Given the description of an element on the screen output the (x, y) to click on. 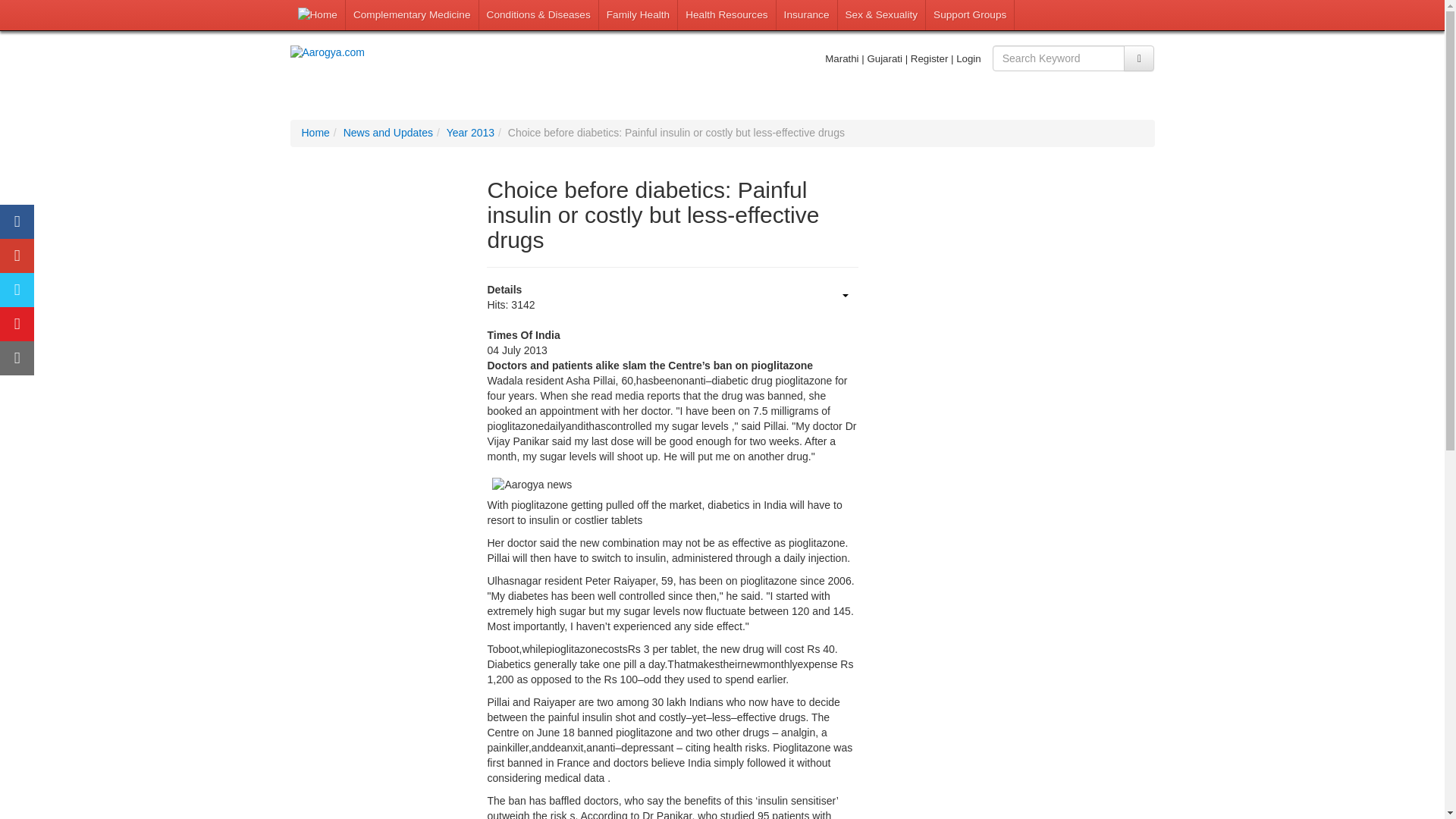
Complementary Medicine (412, 15)
Youtube (16, 324)
Facebook (16, 221)
Aarogya news (531, 484)
Twitter (16, 289)
Aarogya.com (389, 52)
